Given the description of an element on the screen output the (x, y) to click on. 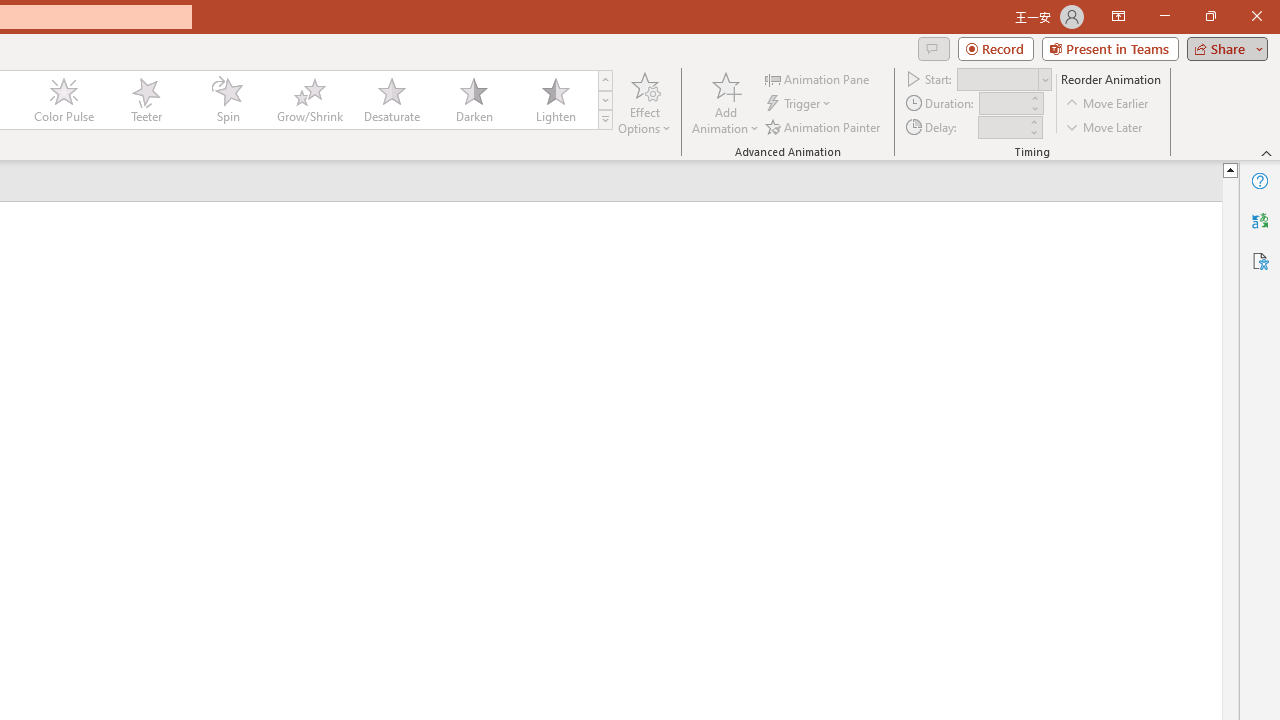
Trigger (799, 103)
Grow/Shrink (309, 100)
Add Animation (725, 102)
